Given the description of an element on the screen output the (x, y) to click on. 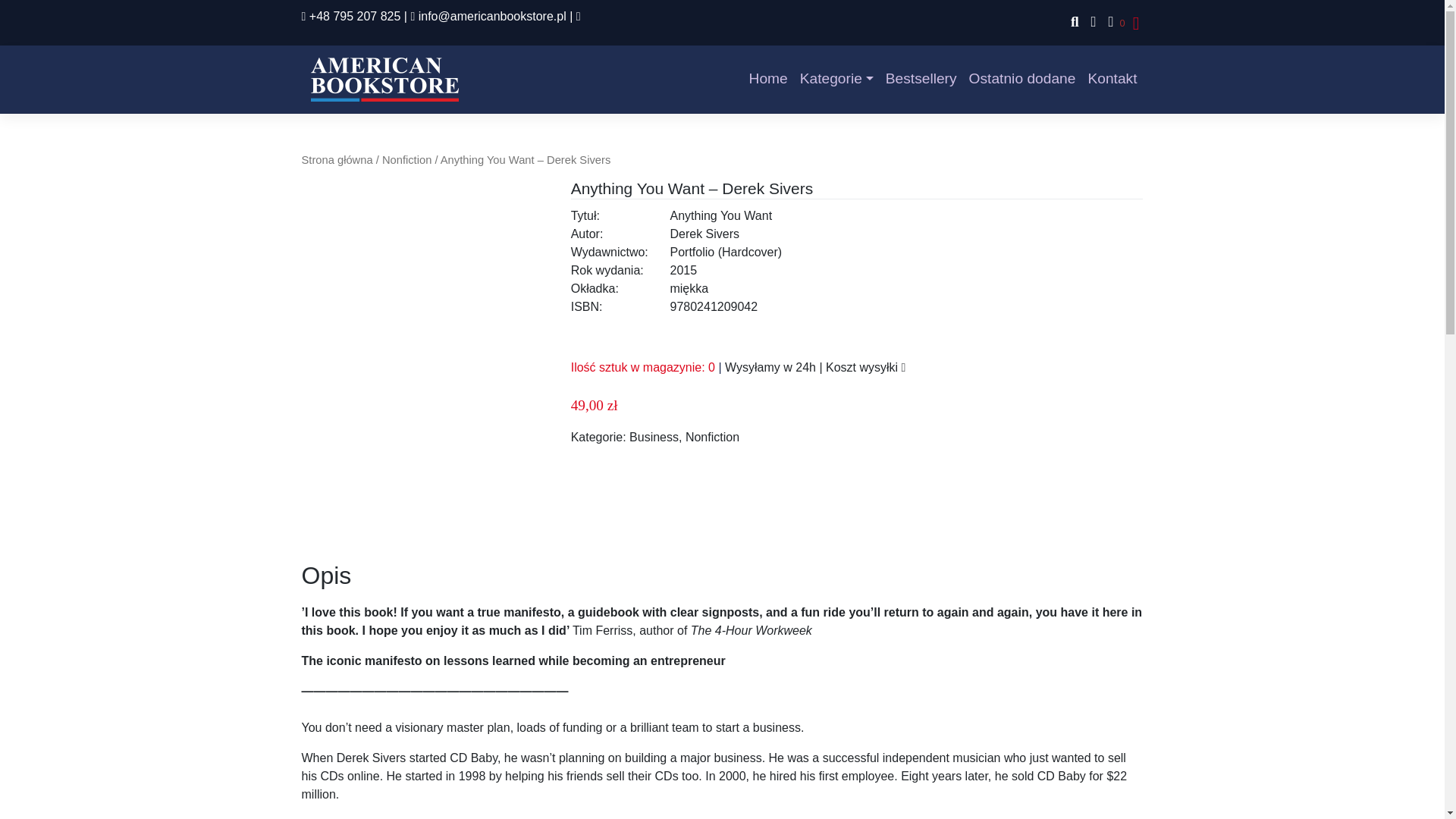
Home (767, 79)
0 (1113, 22)
Kategorie (836, 79)
Kategorie (836, 79)
Home (767, 79)
